Given the description of an element on the screen output the (x, y) to click on. 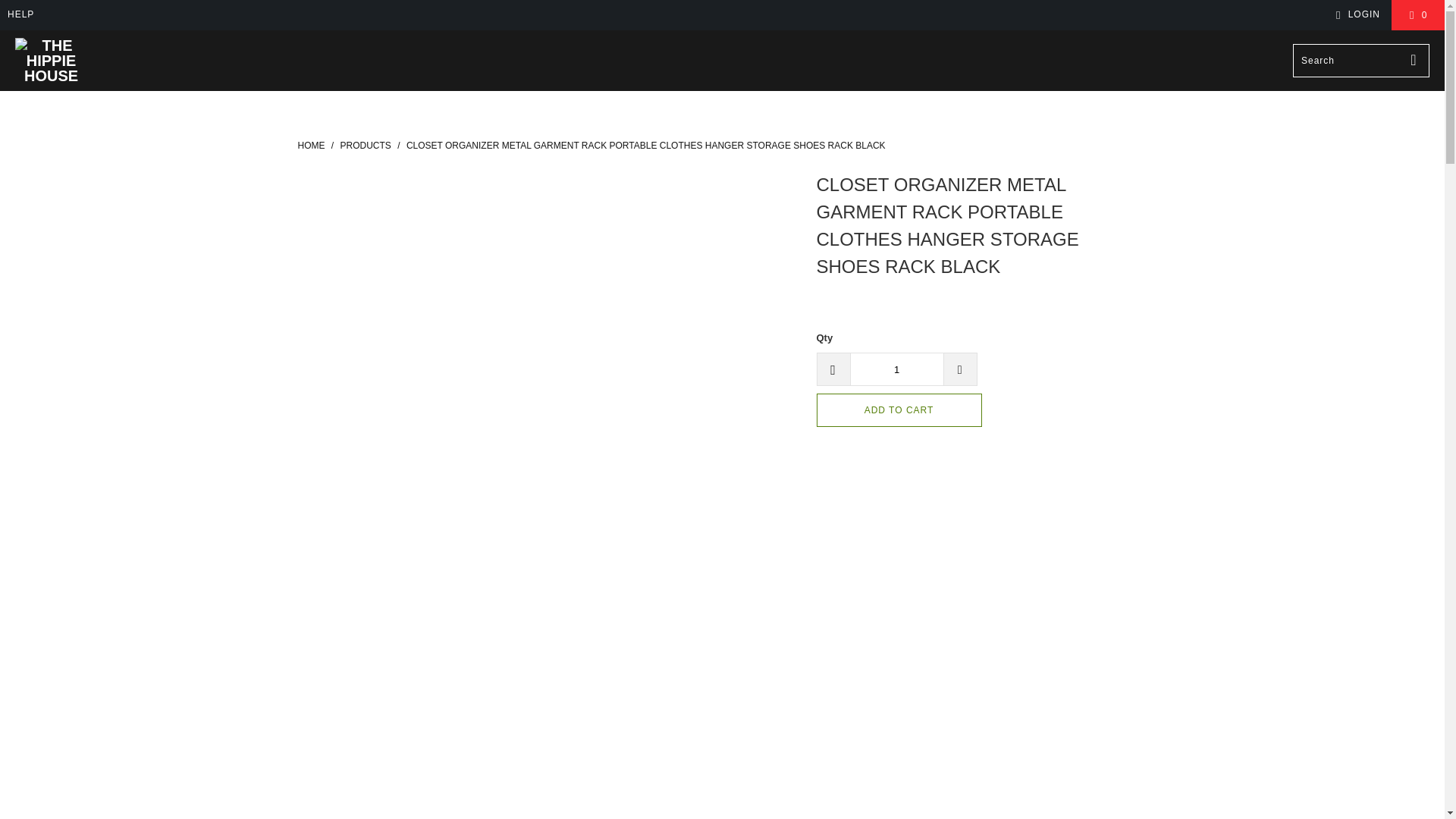
HELP (20, 14)
PRODUCTS (365, 145)
HOME (310, 145)
Products (365, 145)
ADD TO CART (898, 409)
The Hippie House (50, 60)
1 (895, 368)
The Hippie House (310, 145)
My Account  (1355, 14)
